Given the description of an element on the screen output the (x, y) to click on. 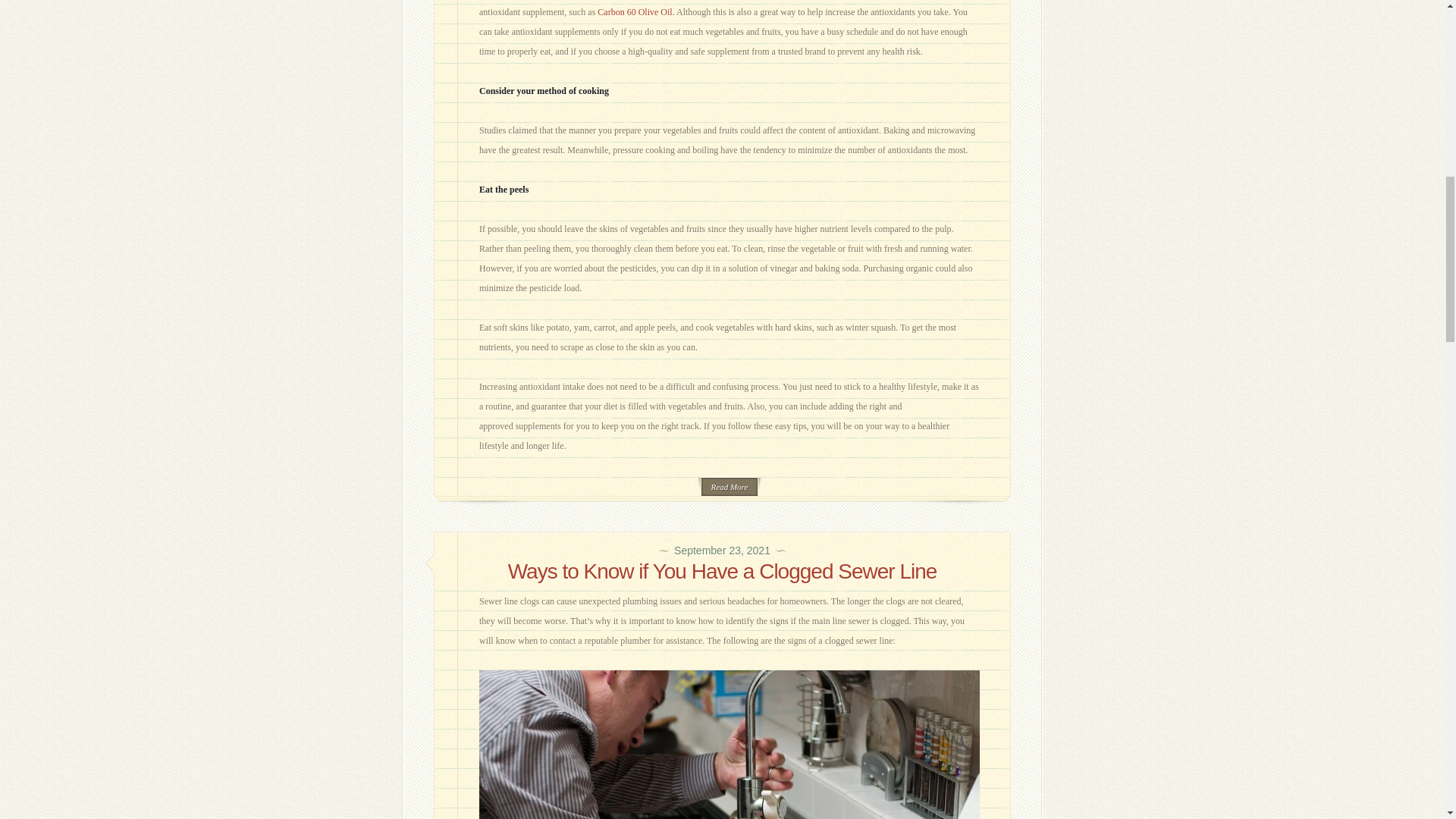
Ways to Know if You Have a Clogged Sewer Line (722, 571)
Read More (729, 486)
Carbon 60 Olive Oil (633, 11)
